Given the description of an element on the screen output the (x, y) to click on. 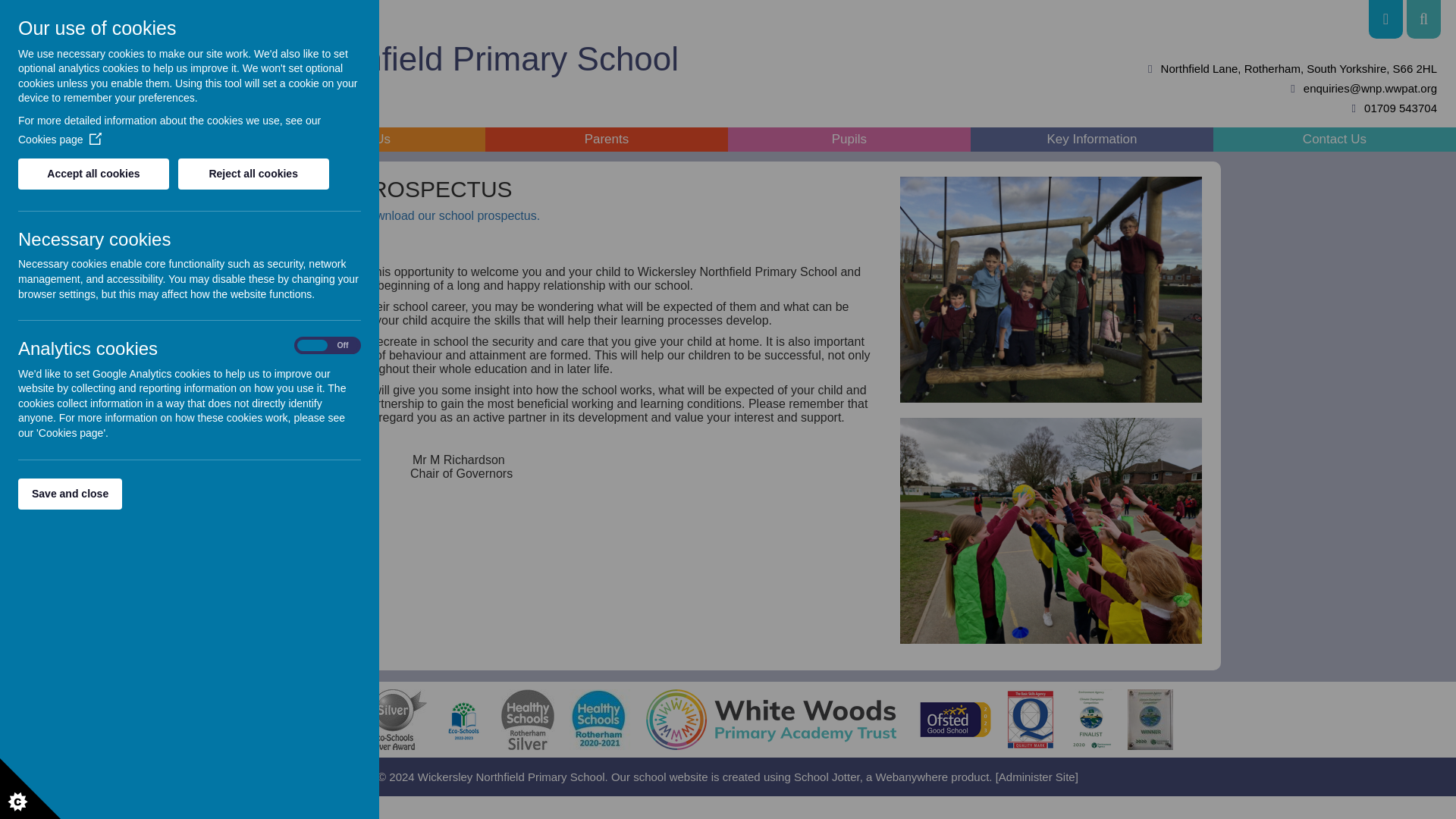
school website (670, 776)
Please click here to download our school prospectus. (396, 215)
Key Information (1091, 139)
Reject all cookies (253, 173)
Contact Us (1334, 139)
Webanywhere (911, 776)
Please click here to download our school prospectus. (396, 215)
Save and close (69, 493)
Home (120, 139)
on (327, 345)
Administer Site (1036, 776)
Pupils (849, 139)
Parents (606, 139)
Accept all cookies (92, 173)
School Jotter (826, 776)
